Given the description of an element on the screen output the (x, y) to click on. 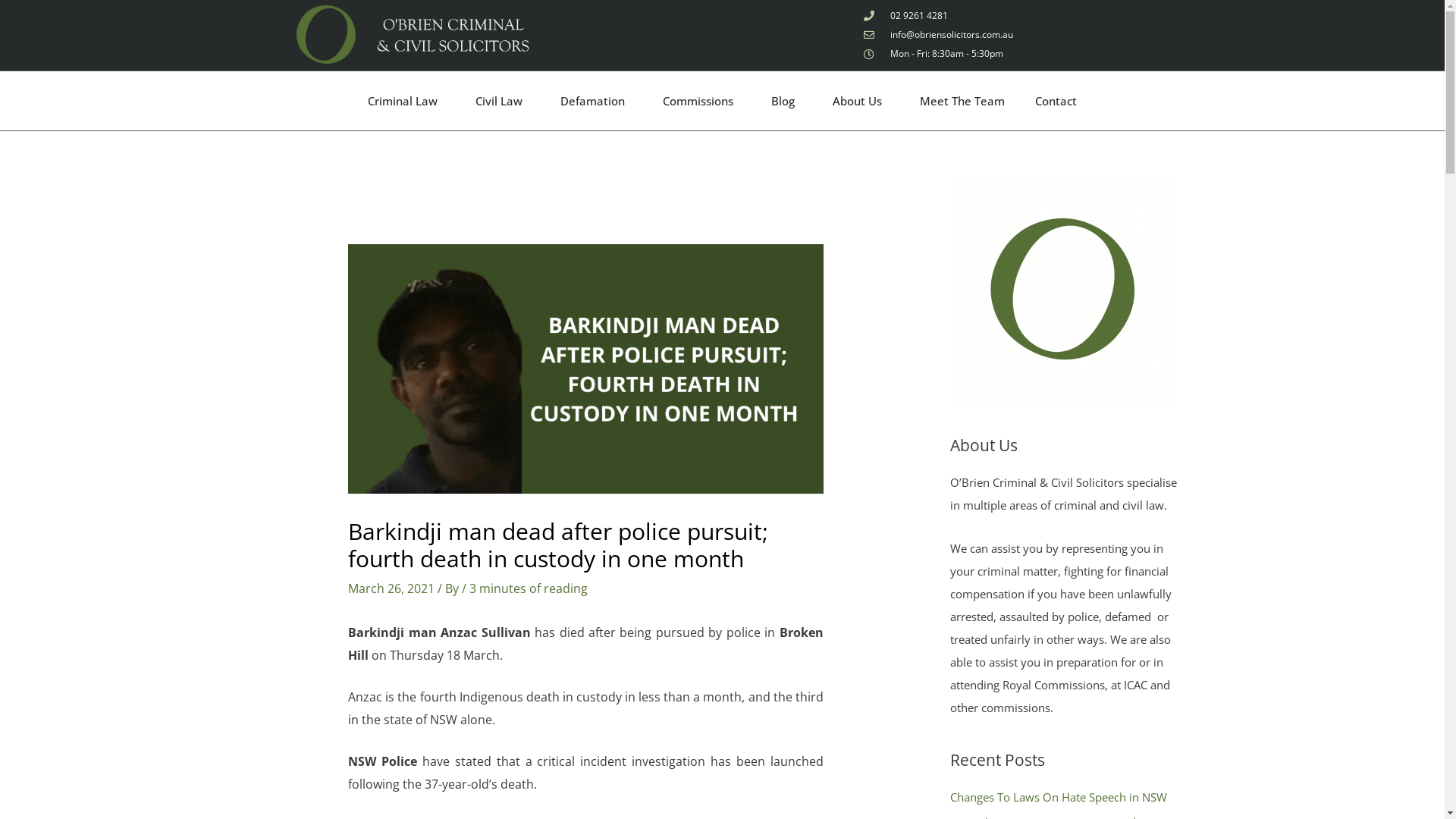
Civil Law Element type: text (502, 100)
Criminal Law Element type: text (406, 100)
Changes To Laws On Hate Speech in NSW Element type: text (1057, 796)
Commissions Element type: text (701, 100)
Contact Element type: text (1055, 100)
Defamation Element type: text (596, 100)
Blog Element type: text (786, 100)
Meet The Team Element type: text (961, 100)
About Us Element type: text (860, 100)
